Given the description of an element on the screen output the (x, y) to click on. 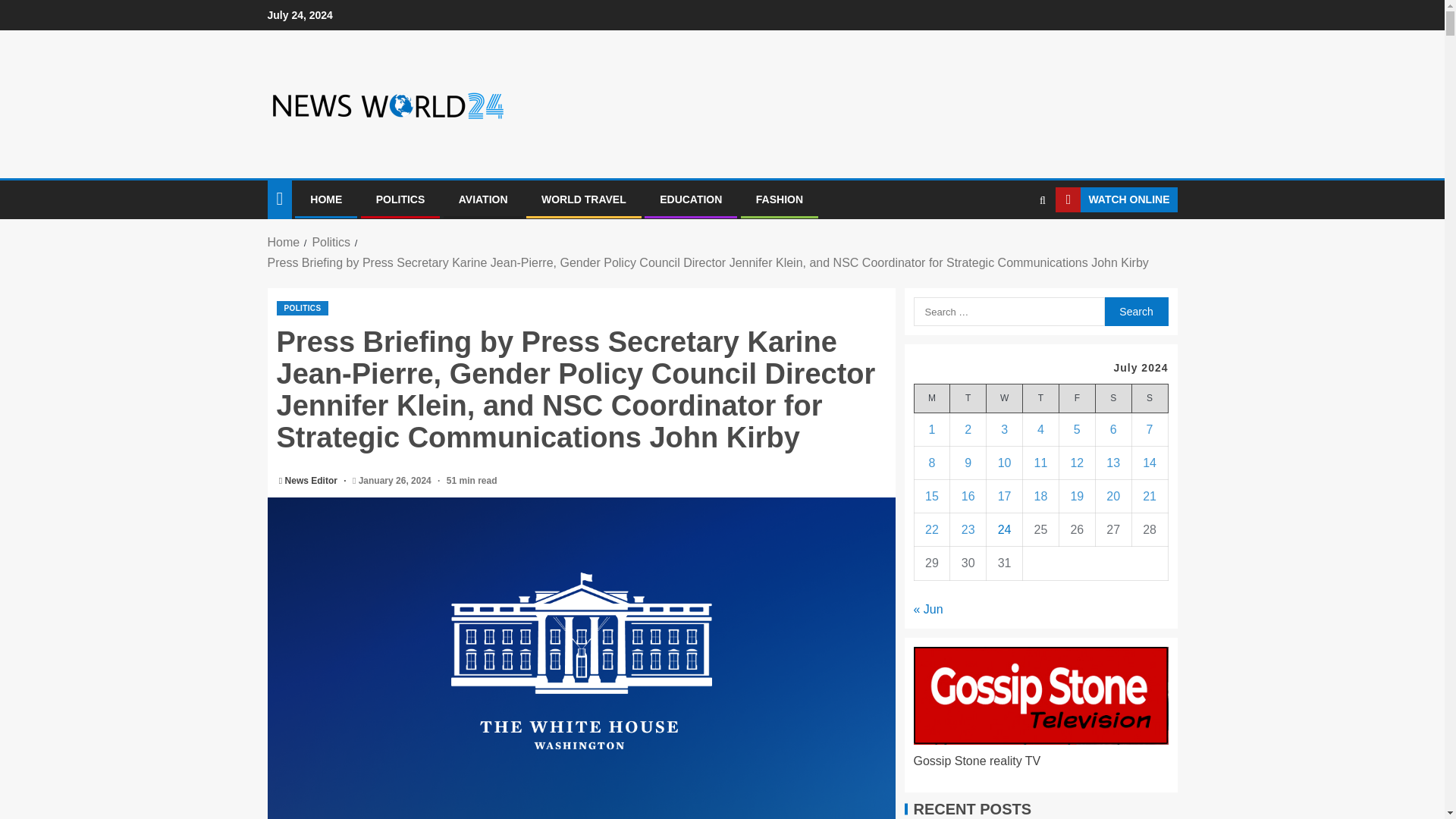
Monday (932, 398)
News Editor (312, 480)
WATCH ONLINE (1115, 199)
Search (1135, 311)
Home (282, 241)
Wednesday (1005, 398)
Friday (1076, 398)
HOME (326, 199)
WORLD TRAVEL (583, 199)
Politics (330, 241)
AVIATION (483, 199)
EDUCATION (690, 199)
Tuesday (968, 398)
POLITICS (302, 308)
